Given the description of an element on the screen output the (x, y) to click on. 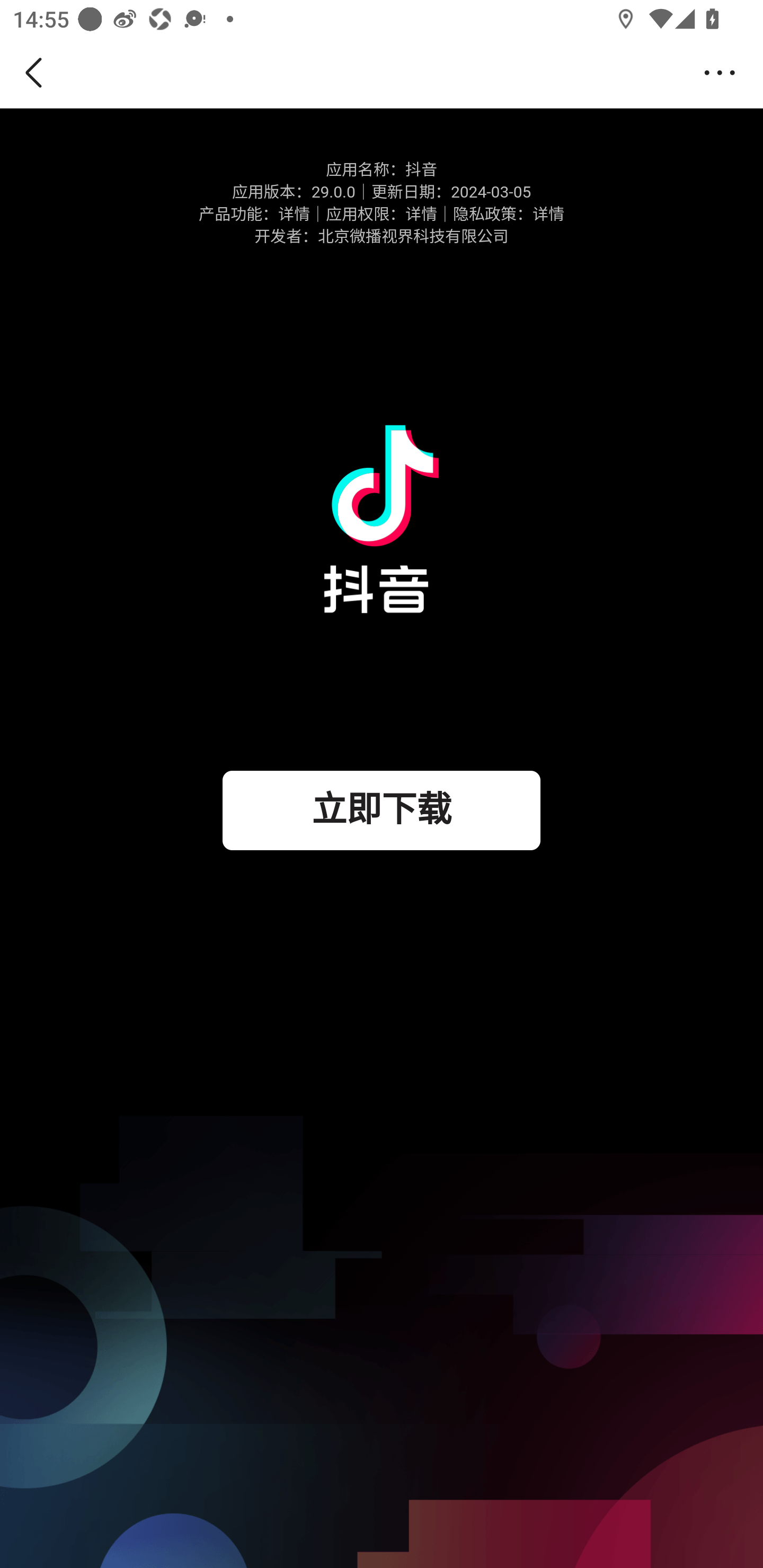
返回，按钮 (37, 72)
更多 (725, 72)
立即下载 (381, 810)
